Given the description of an element on the screen output the (x, y) to click on. 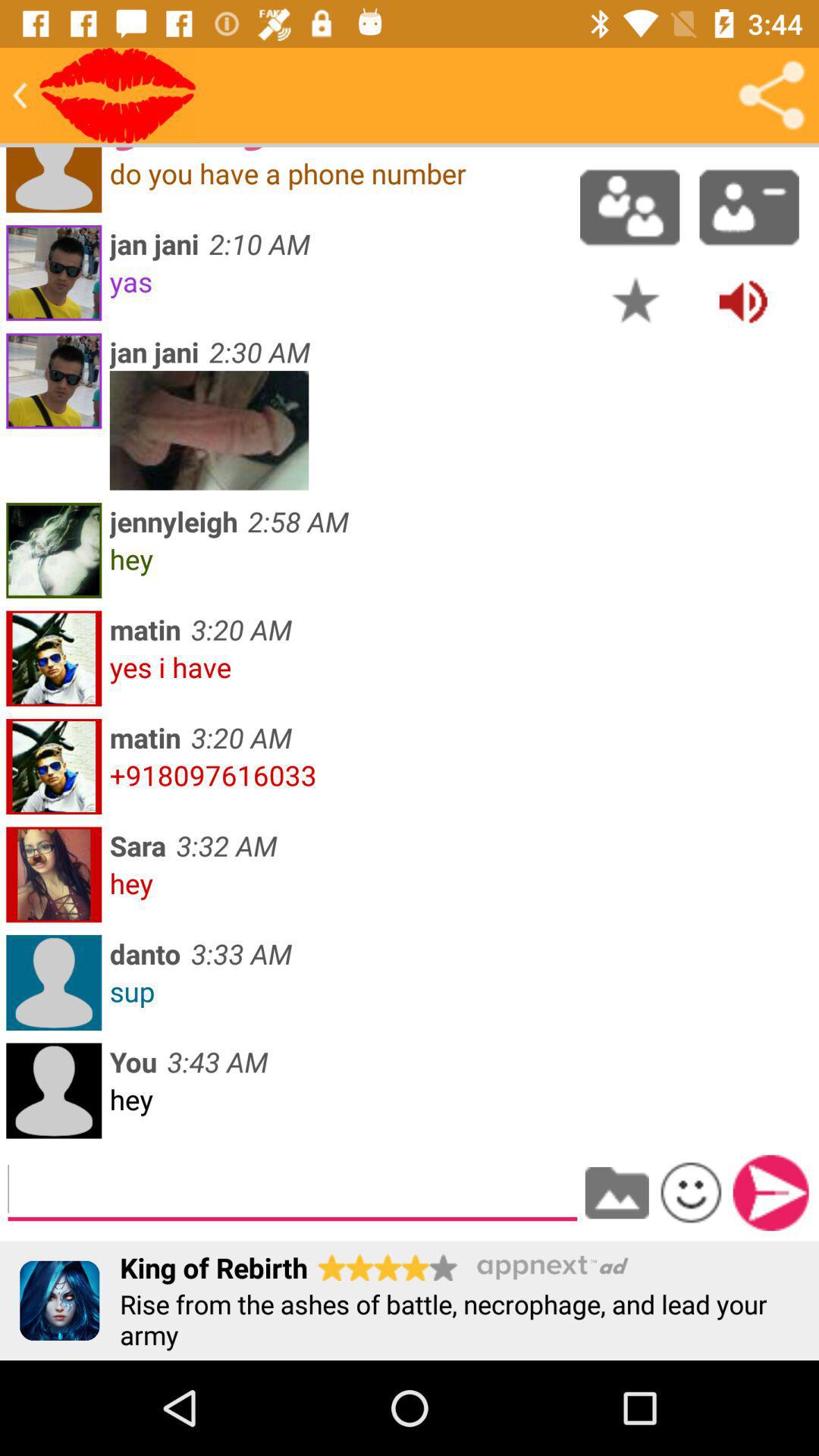
save favorite (635, 300)
